Given the description of an element on the screen output the (x, y) to click on. 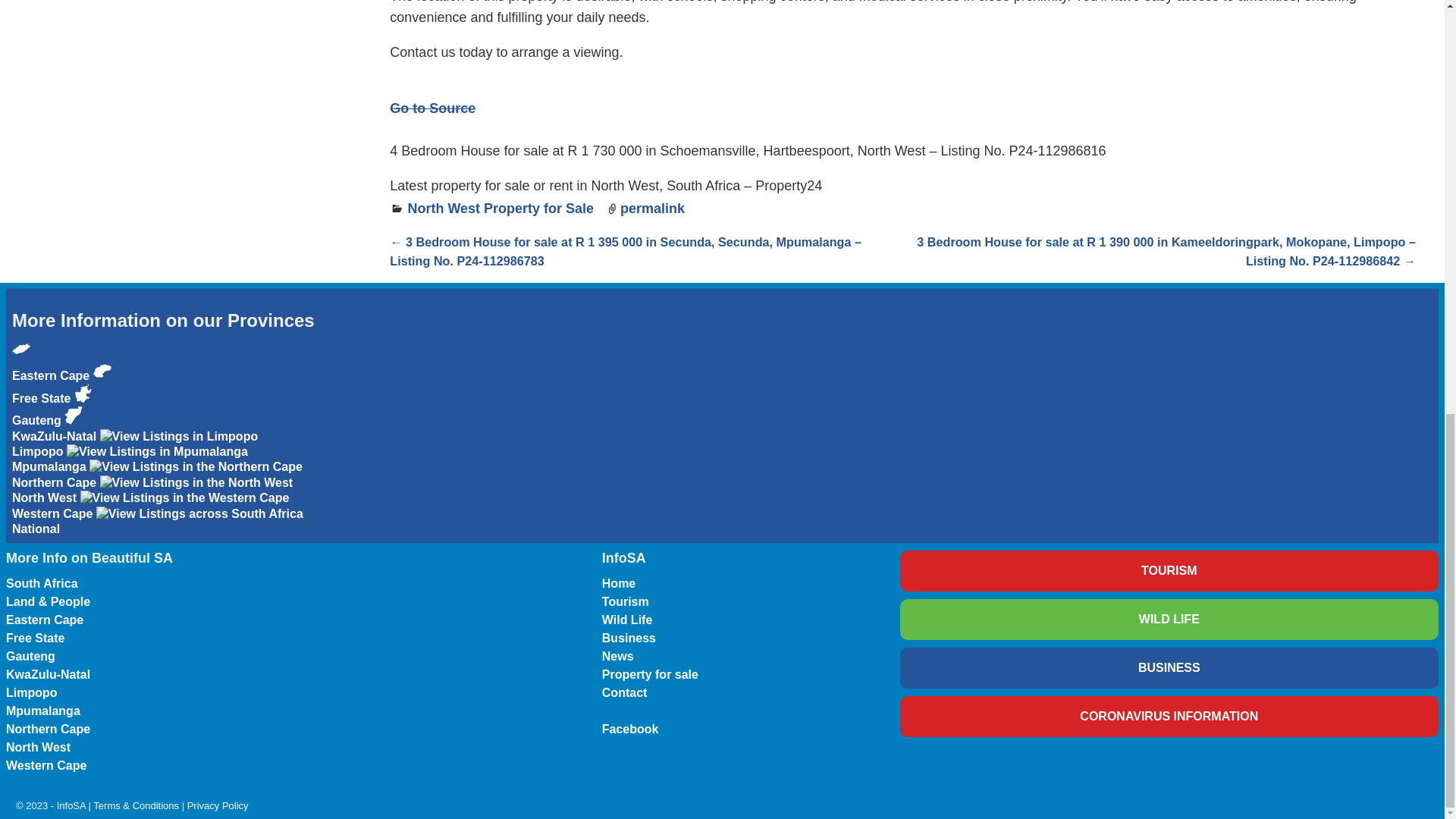
View Listings in KwaZulu-Natal  (55, 428)
View Listings in KwaZulu-Natal  (73, 415)
View Listings in Gauteng (83, 393)
View Listings in Mpumalanga (156, 451)
View Listings in the Free State (61, 386)
View Listings in Gauteng (52, 409)
View Listings in the Free State (102, 370)
View Listings in Limpopo (134, 443)
View Listings in the Eastern Cape (20, 348)
View Listings in Limpopo (179, 436)
View Listings in the Eastern Cape (52, 364)
View Listings in Mpumalanga (129, 459)
